Given the description of an element on the screen output the (x, y) to click on. 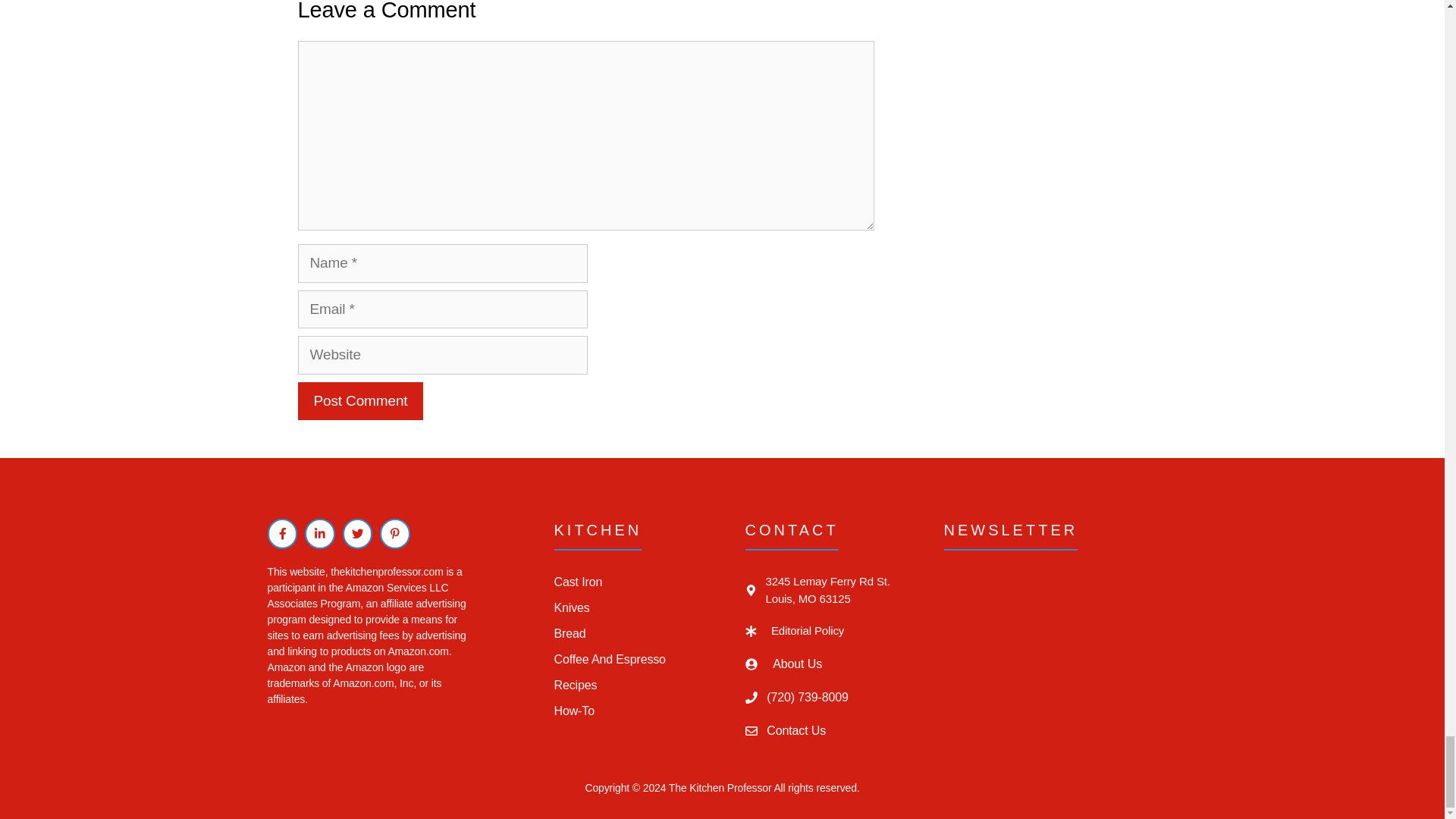
Post Comment (360, 401)
